Given the description of an element on the screen output the (x, y) to click on. 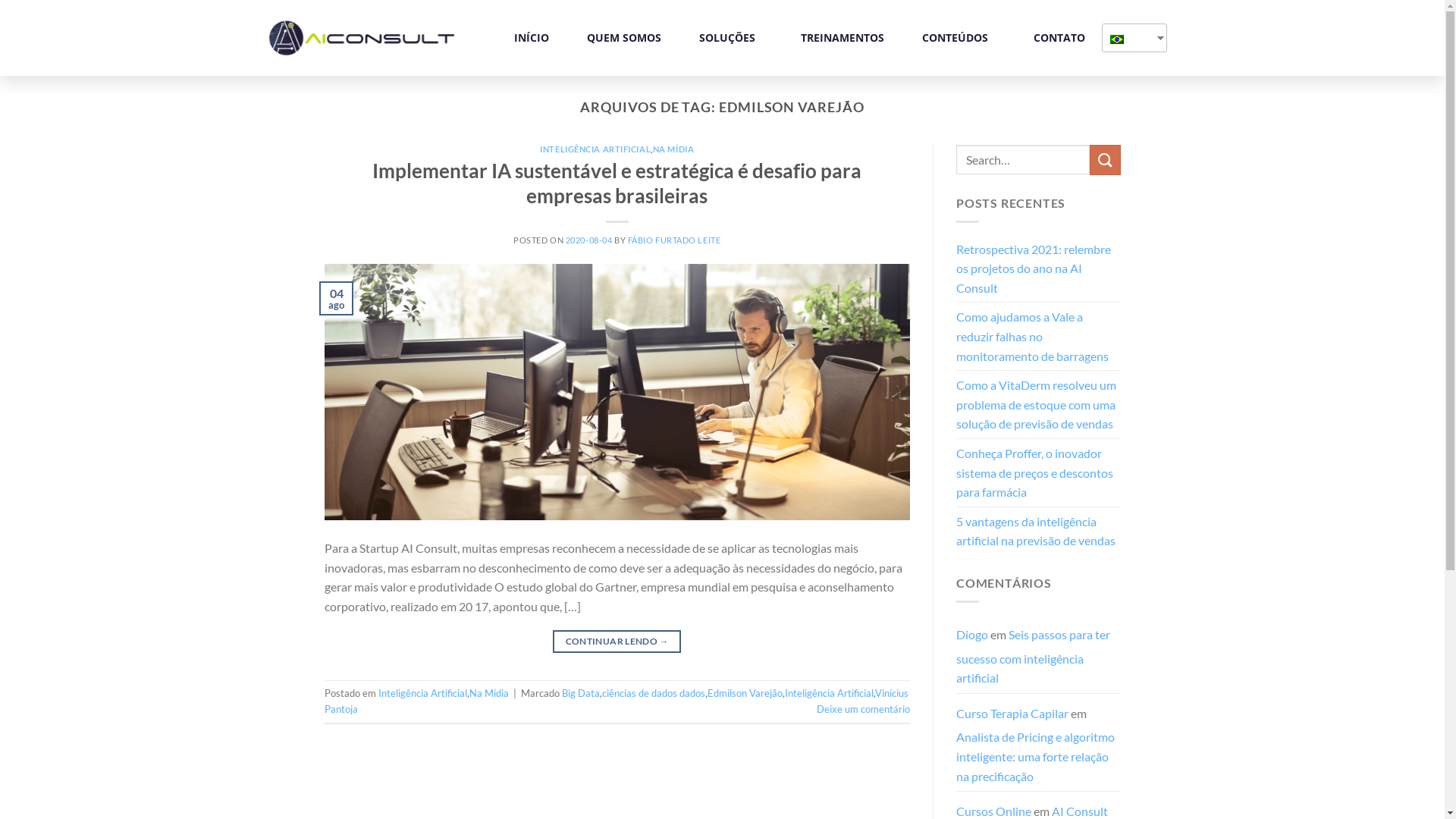
Curso Terapia Capilar Element type: text (1012, 713)
QUEM SOMOS Element type: text (623, 37)
Portuguese Element type: hover (1127, 37)
2020-08-04 Element type: text (588, 239)
CONTATO Element type: text (1058, 37)
Cursos Online Element type: text (993, 810)
TREINAMENTOS Element type: text (842, 37)
Diogo Element type: text (972, 634)
Big Data Element type: text (580, 693)
Portuguese Element type: hover (1116, 38)
